Given the description of an element on the screen output the (x, y) to click on. 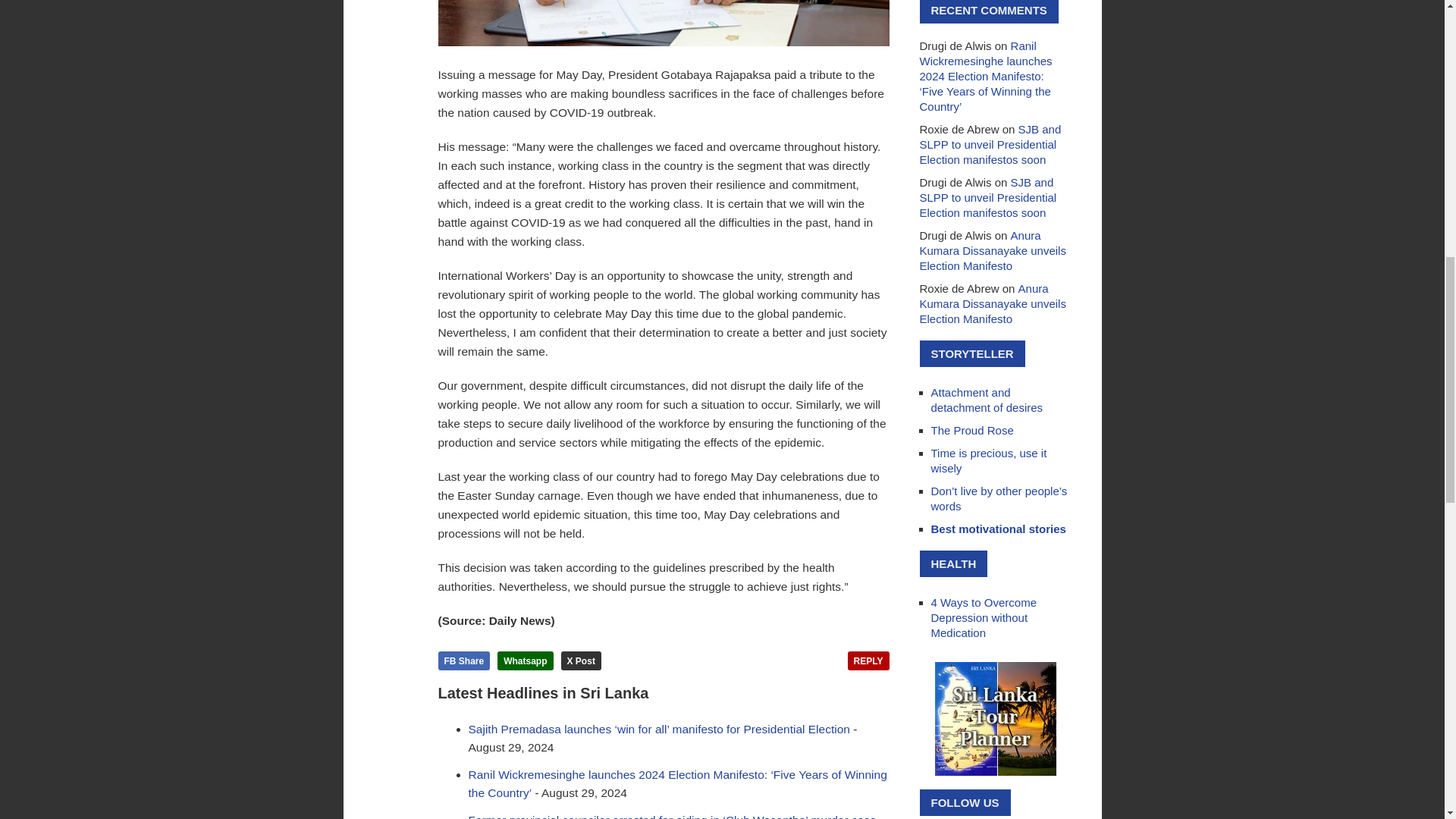
X Post (580, 660)
REPLY (868, 660)
The Proud Rose (972, 430)
Attachment and detachment of desires (987, 399)
Share on Facebook (464, 660)
Share on Whatsapp (525, 660)
SJB and SLPP to unveil Presidential Election manifestos soon (989, 144)
SJB and SLPP to unveil Presidential Election manifestos soon (987, 197)
Anura Kumara Dissanayake unveils Election Manifesto (991, 250)
Write your Comments (868, 660)
